Given the description of an element on the screen output the (x, y) to click on. 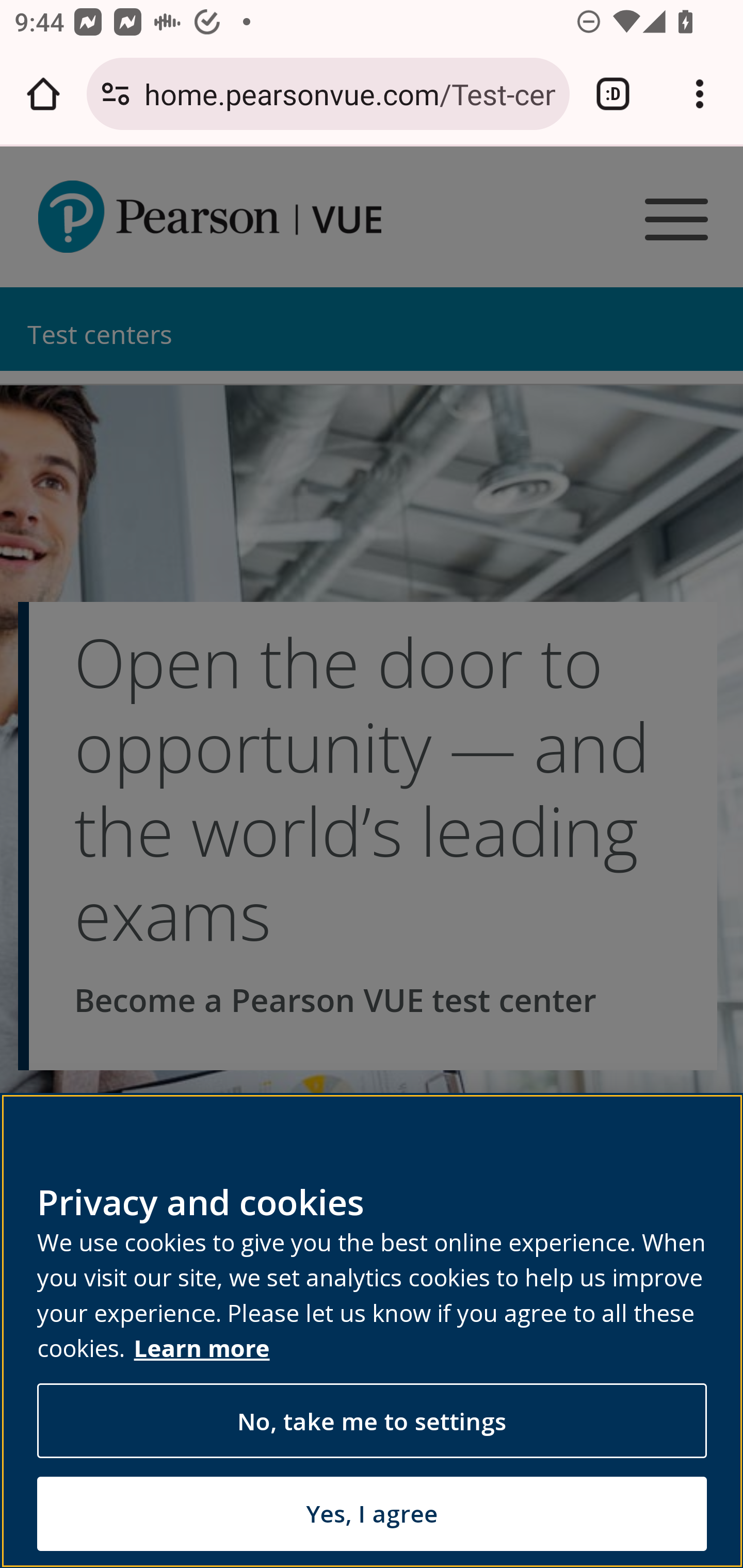
Open the home page (43, 93)
Connection is secure (115, 93)
Switch or close tabs (612, 93)
Customize and control Google Chrome (699, 93)
No, take me to settings (372, 1420)
Yes, I agree (372, 1512)
